Given the description of an element on the screen output the (x, y) to click on. 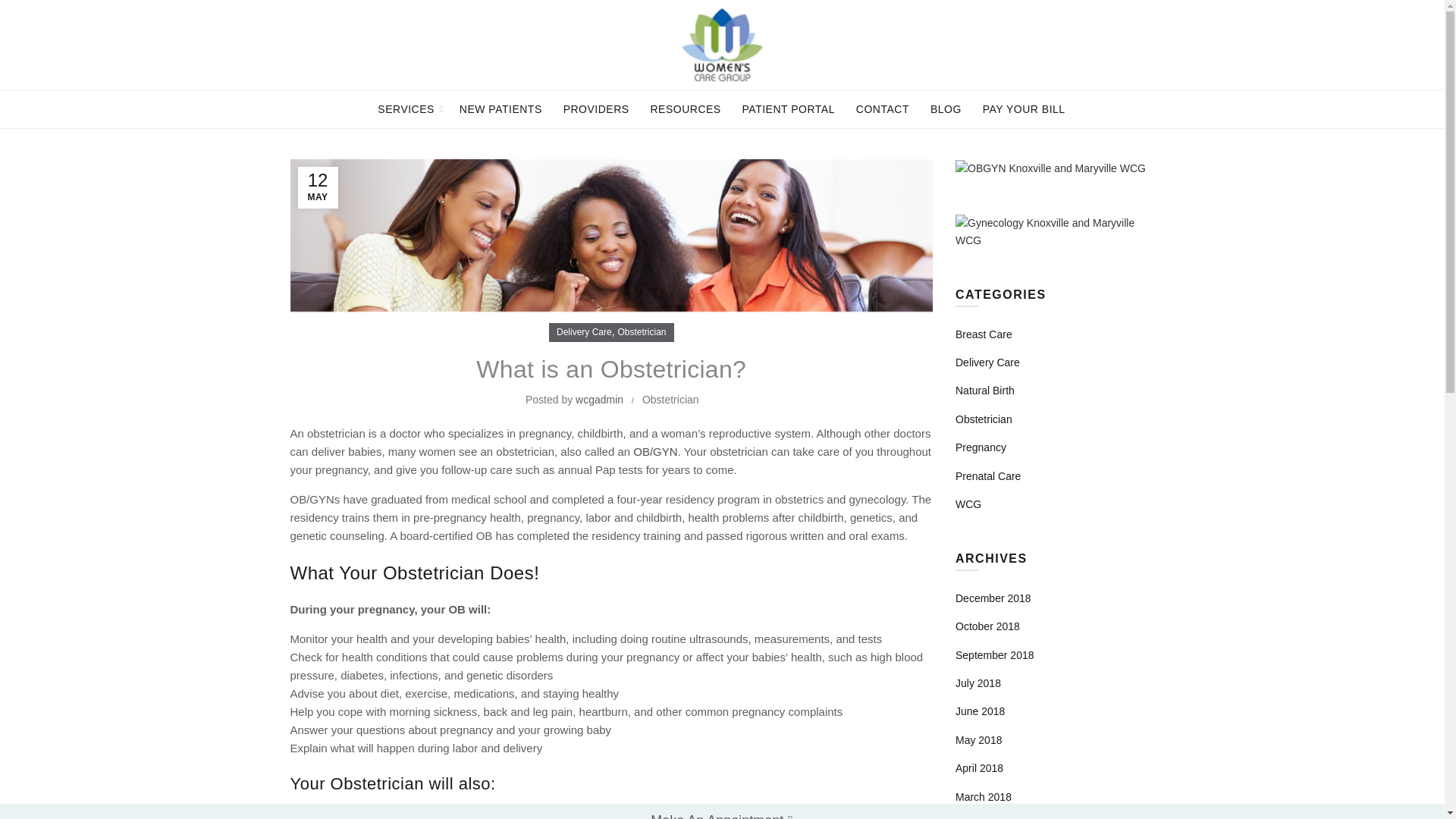
PATIENT PORTAL (788, 108)
PROVIDERS (596, 108)
CONTACT (881, 108)
Obstetrician (670, 399)
Delivery Care (583, 332)
RESOURCES (685, 108)
wcgadmin (600, 399)
PAY YOUR BILL (1023, 108)
BLOG (945, 108)
Obstetrician (641, 332)
